Given the description of an element on the screen output the (x, y) to click on. 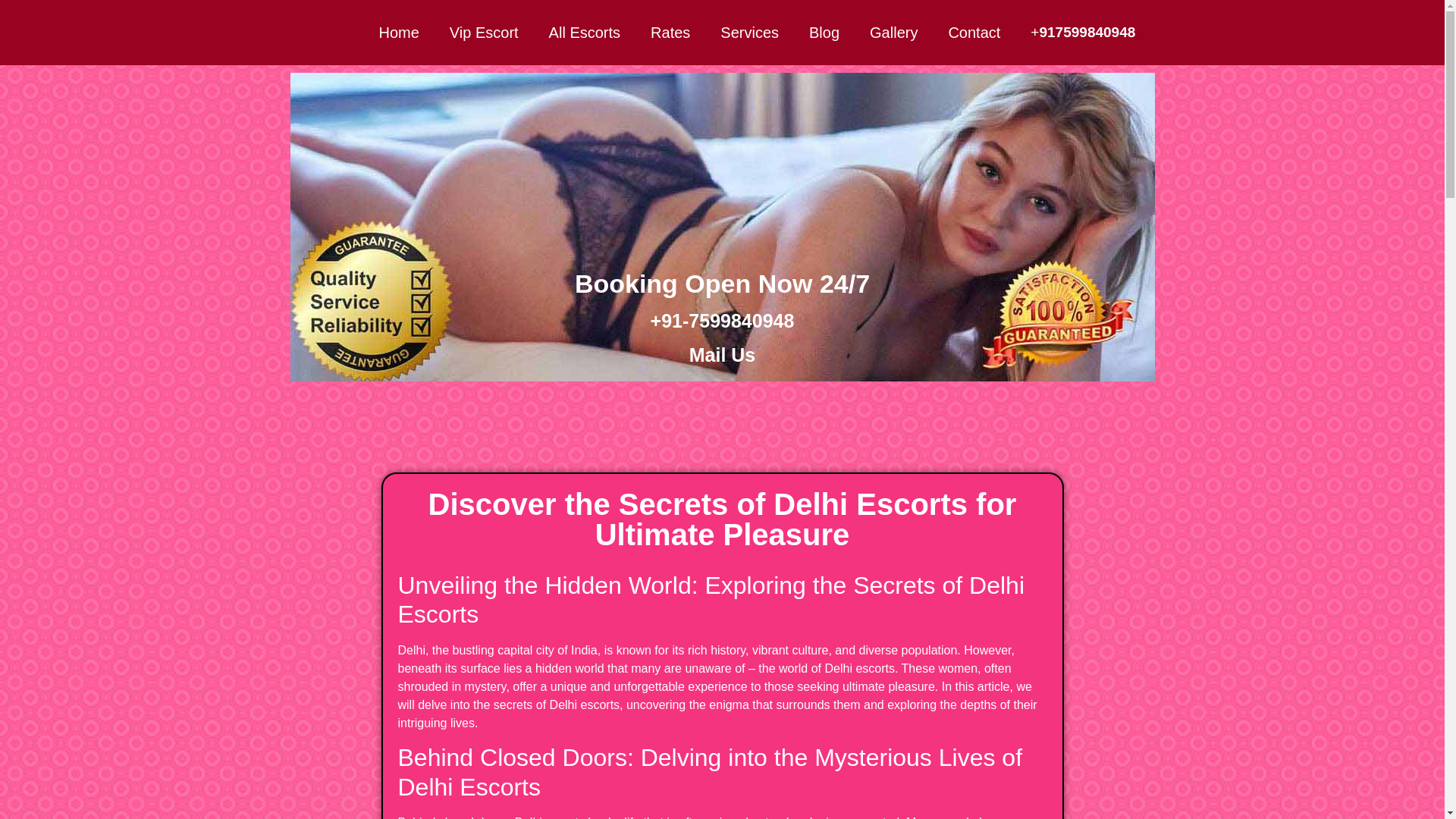
Mail Us (721, 354)
Contact (973, 32)
Rates (669, 32)
All Escorts (584, 32)
Gallery (893, 32)
Vip Escort (483, 32)
Blog (823, 32)
Home (397, 32)
Services (748, 32)
